Given the description of an element on the screen output the (x, y) to click on. 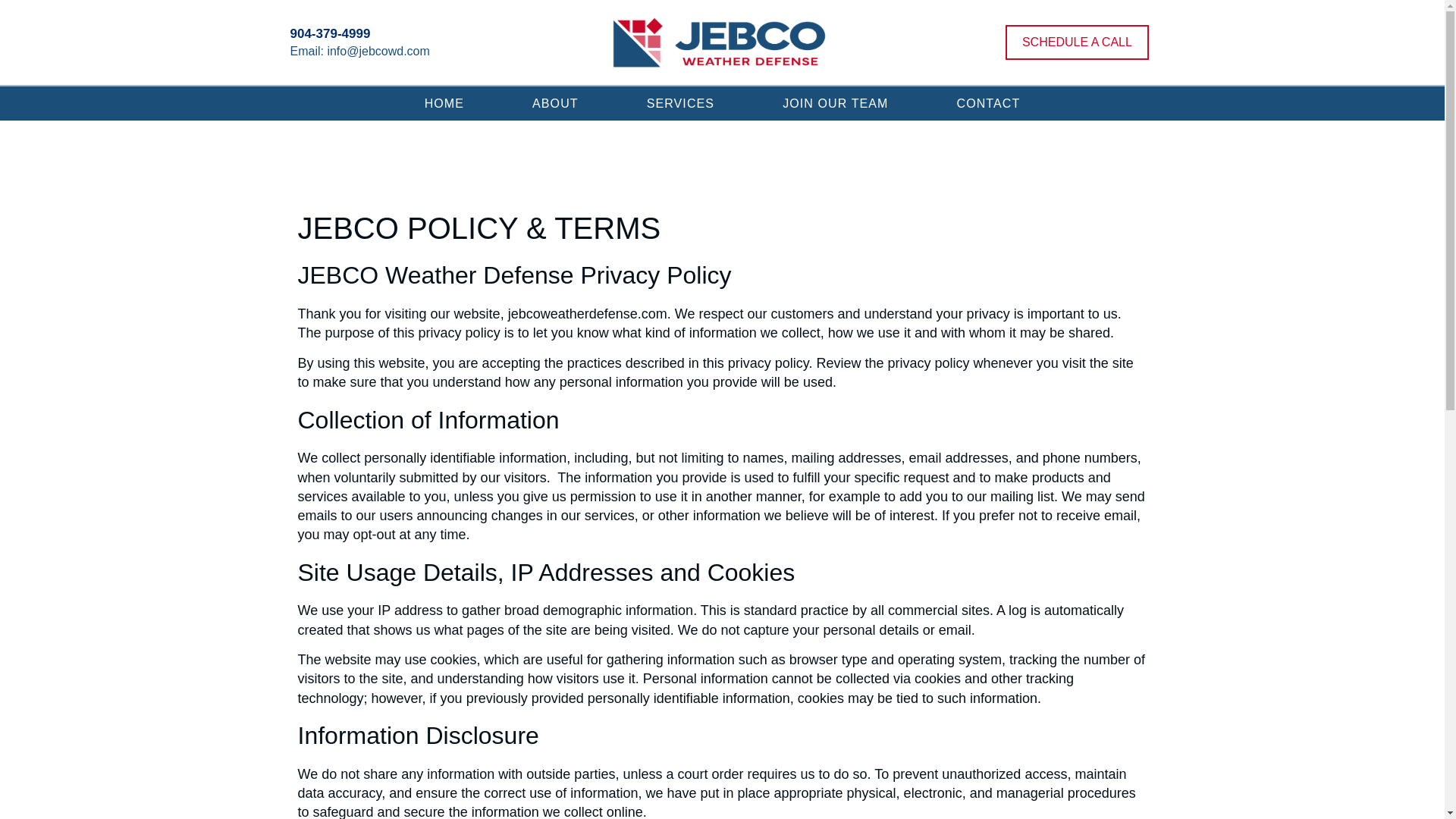
CONTACT (987, 103)
JOIN OUR TEAM (834, 103)
ABOUT (554, 103)
HOME (443, 103)
SCHEDULE A CALL (1077, 42)
SERVICES (680, 103)
